Given the description of an element on the screen output the (x, y) to click on. 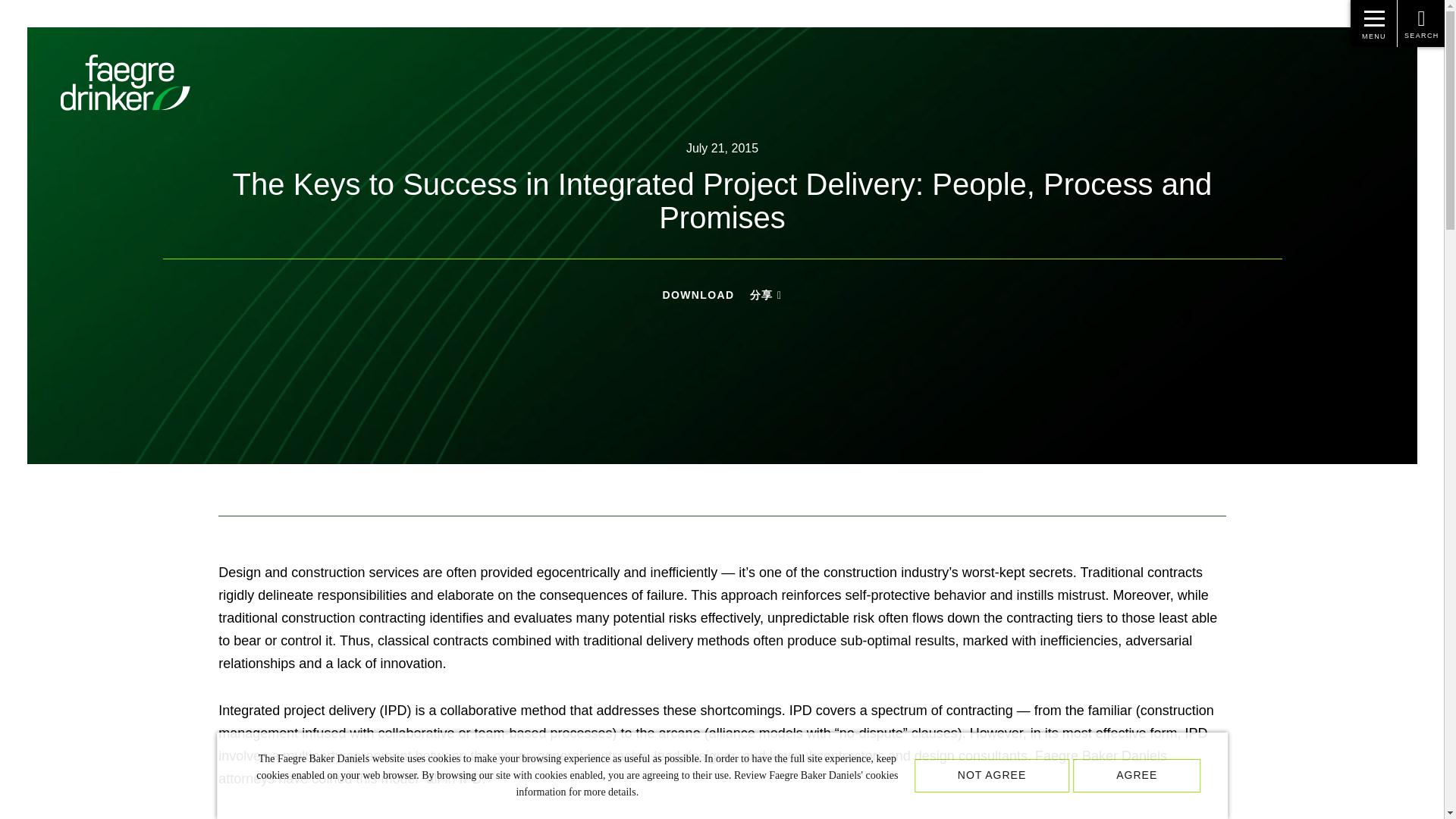
DOWNLOAD (697, 295)
MENU (1374, 23)
